Given the description of an element on the screen output the (x, y) to click on. 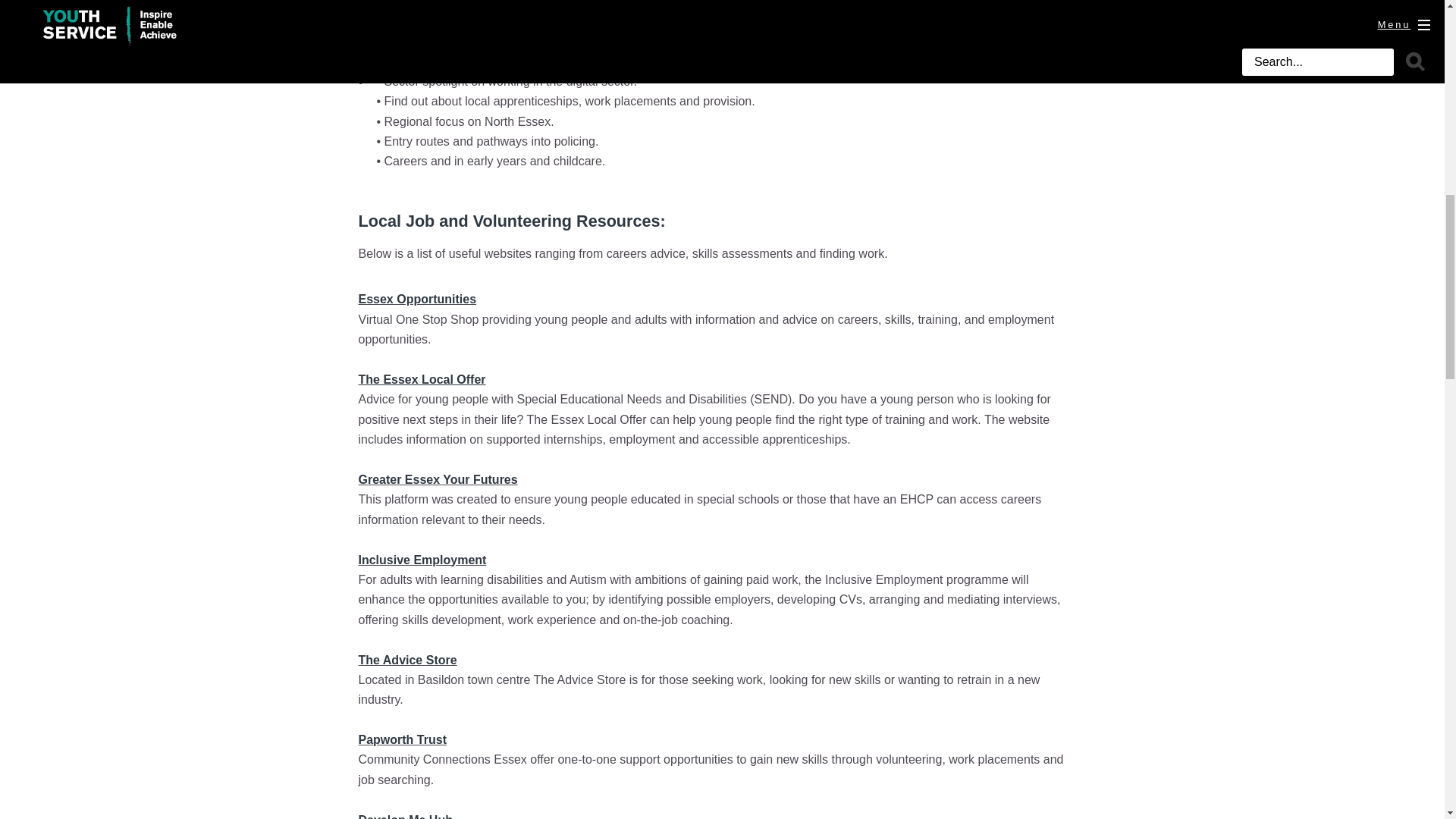
Essex Careers Magazine (504, 34)
Greater Essex Your Futures (437, 479)
Inclusive Employment (422, 559)
Papworth Trust (401, 739)
Develop Me Hub (404, 816)
Essex Opportunities (417, 298)
The Essex Local Offer (421, 379)
The Advice Store (407, 659)
